Given the description of an element on the screen output the (x, y) to click on. 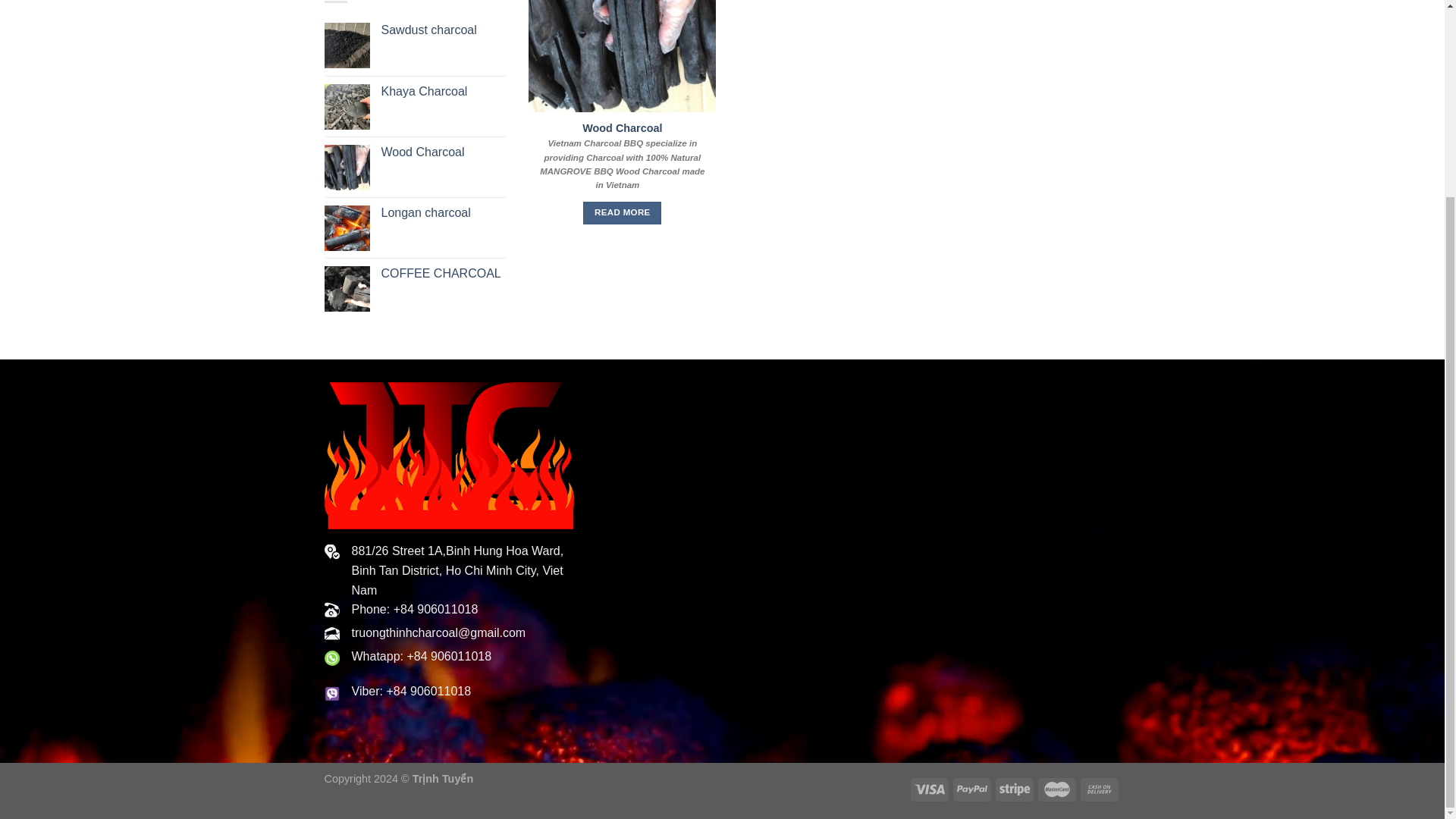
Wood Charcoal (621, 128)
Longan charcoal (442, 213)
COFFEE CHARCOAL (442, 273)
Sawdust charcoal (442, 30)
Wood Charcoal (442, 152)
READ MORE (622, 212)
Khaya Charcoal (442, 91)
